Given the description of an element on the screen output the (x, y) to click on. 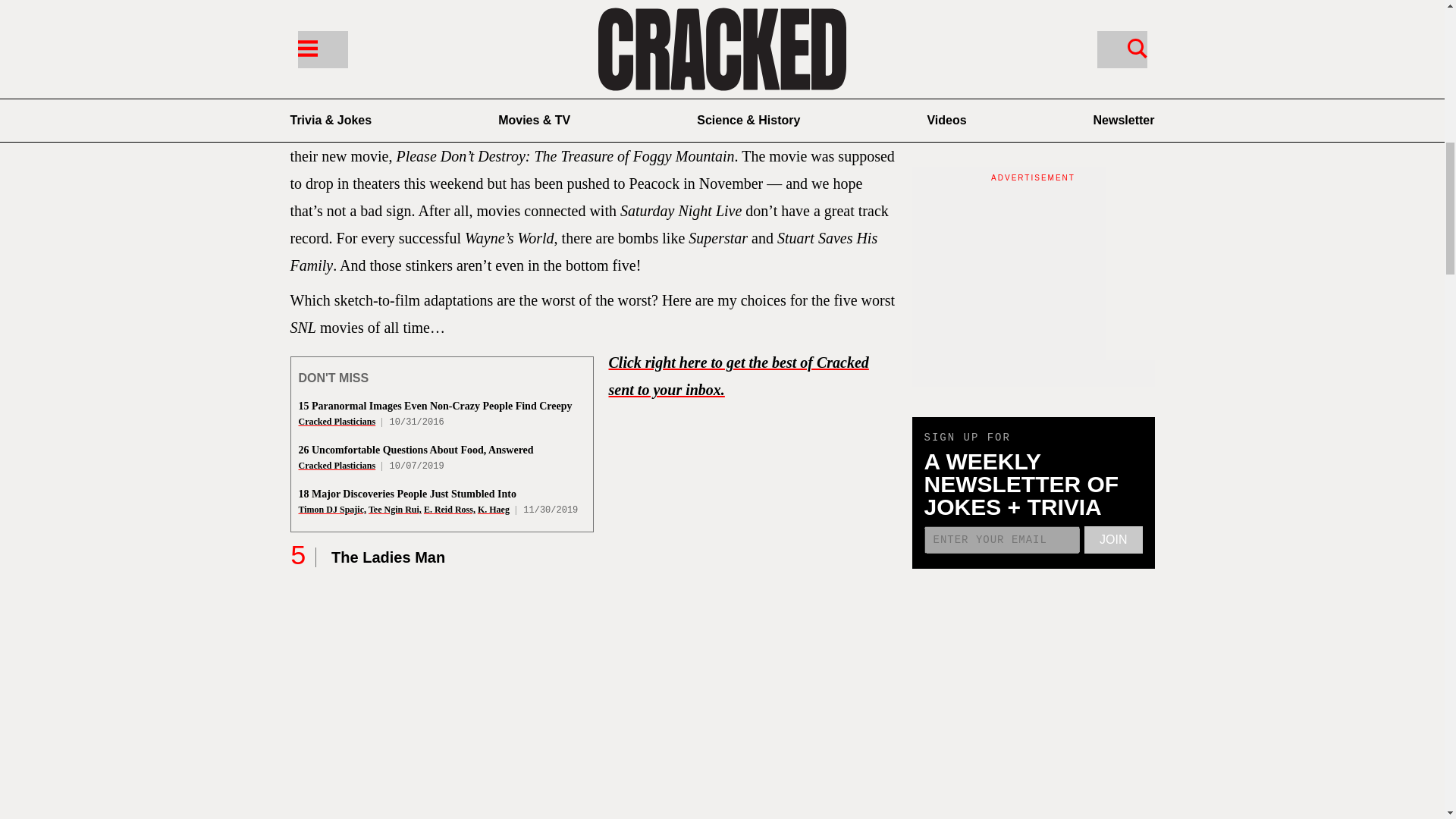
Cracked Plasticians (336, 465)
18 Major Discoveries People Just Stumbled Into (407, 493)
15 Paranormal Images Even Non-Crazy People Find Creepy (435, 405)
Matt Solomon (387, 60)
Cracked Plasticians (336, 421)
26 Uncomfortable Questions About Food, Answered (416, 449)
